Given the description of an element on the screen output the (x, y) to click on. 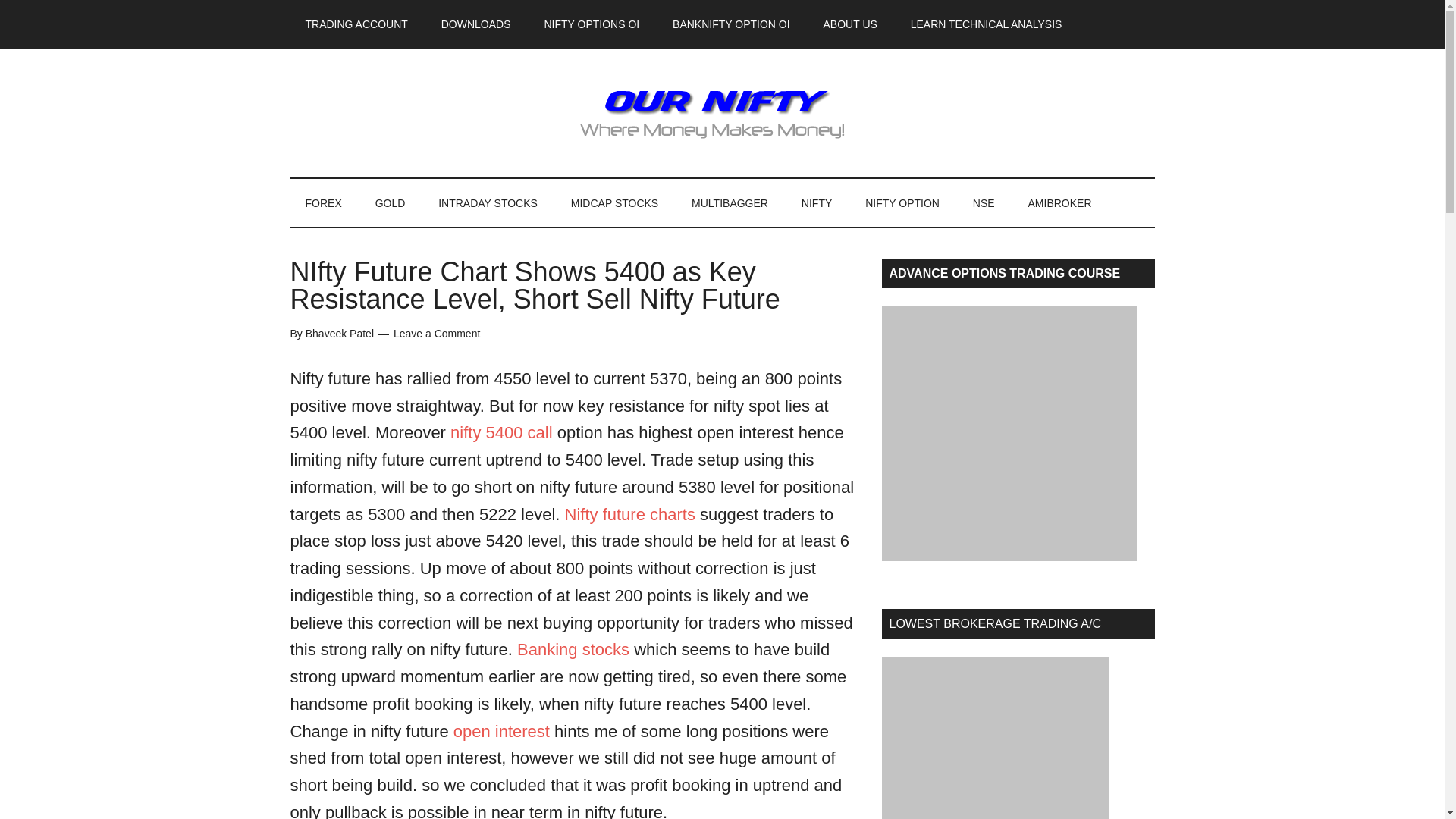
nifty 5400 call (501, 432)
Bhaveek Patel (339, 333)
FOREX (322, 203)
Leave a Comment (436, 333)
BANKNIFTY OPTION OI (731, 24)
NSE (984, 203)
TRADING ACCOUNT (355, 24)
AMIBROKER (1059, 203)
MULTIBAGGER (730, 203)
DOWNLOADS (475, 24)
NIFTY OPTION (902, 203)
OurNifty.com (721, 112)
NIFTY OPTIONS OI (590, 24)
INTRADAY STOCKS (488, 203)
